Given the description of an element on the screen output the (x, y) to click on. 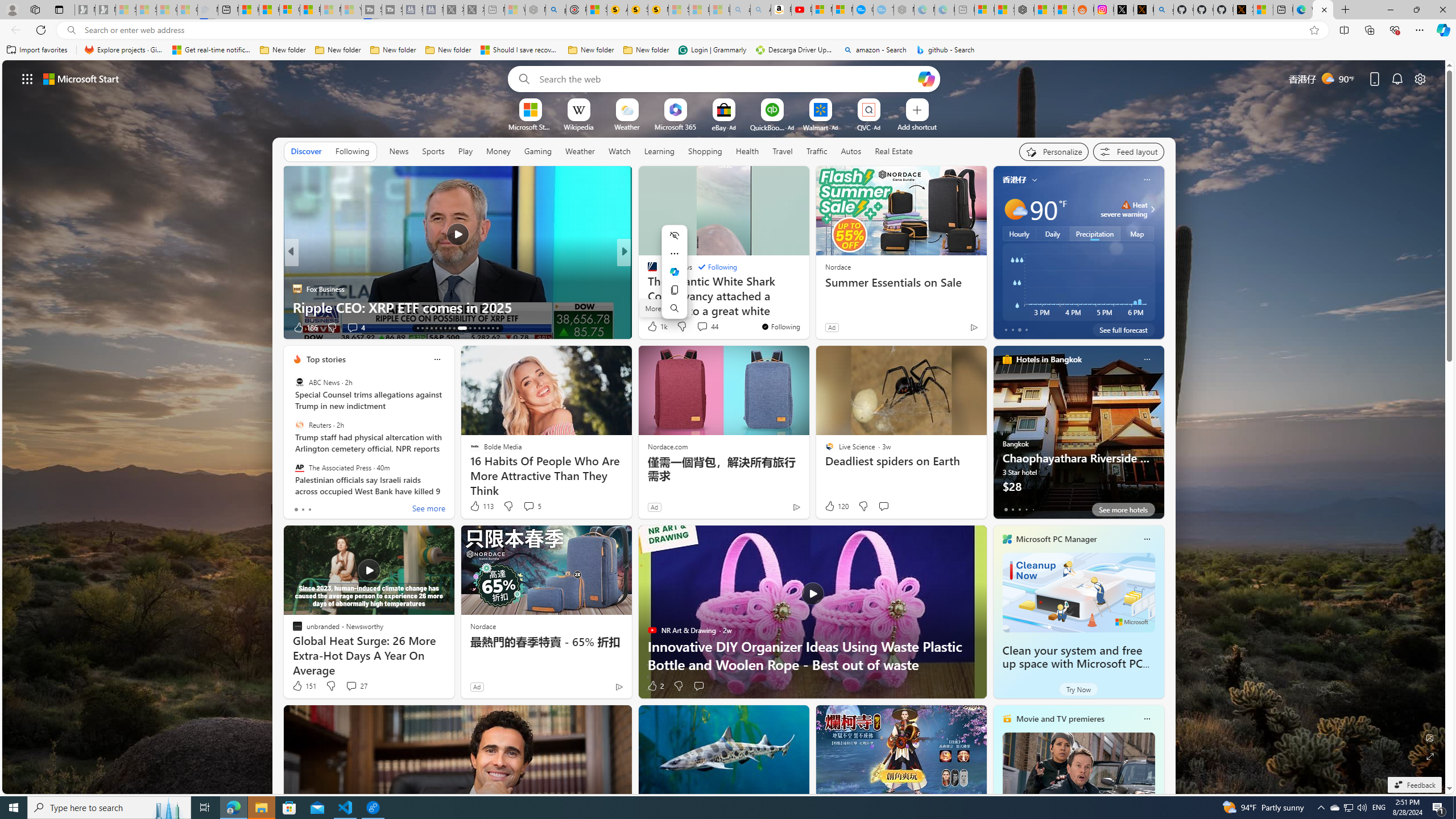
Enter your search term (726, 78)
151 Like (303, 685)
AutomationID: tab-16 (431, 328)
Reuters (299, 424)
Nordace.com (667, 446)
github - Search (1162, 9)
More options (1146, 718)
AutomationID: tab-27 (488, 328)
See full forecast (1123, 329)
My location (1033, 179)
Should I save recovered Word documents? - Microsoft Support (519, 49)
Mini menu on text selection (674, 278)
Workspaces (34, 9)
